Given the description of an element on the screen output the (x, y) to click on. 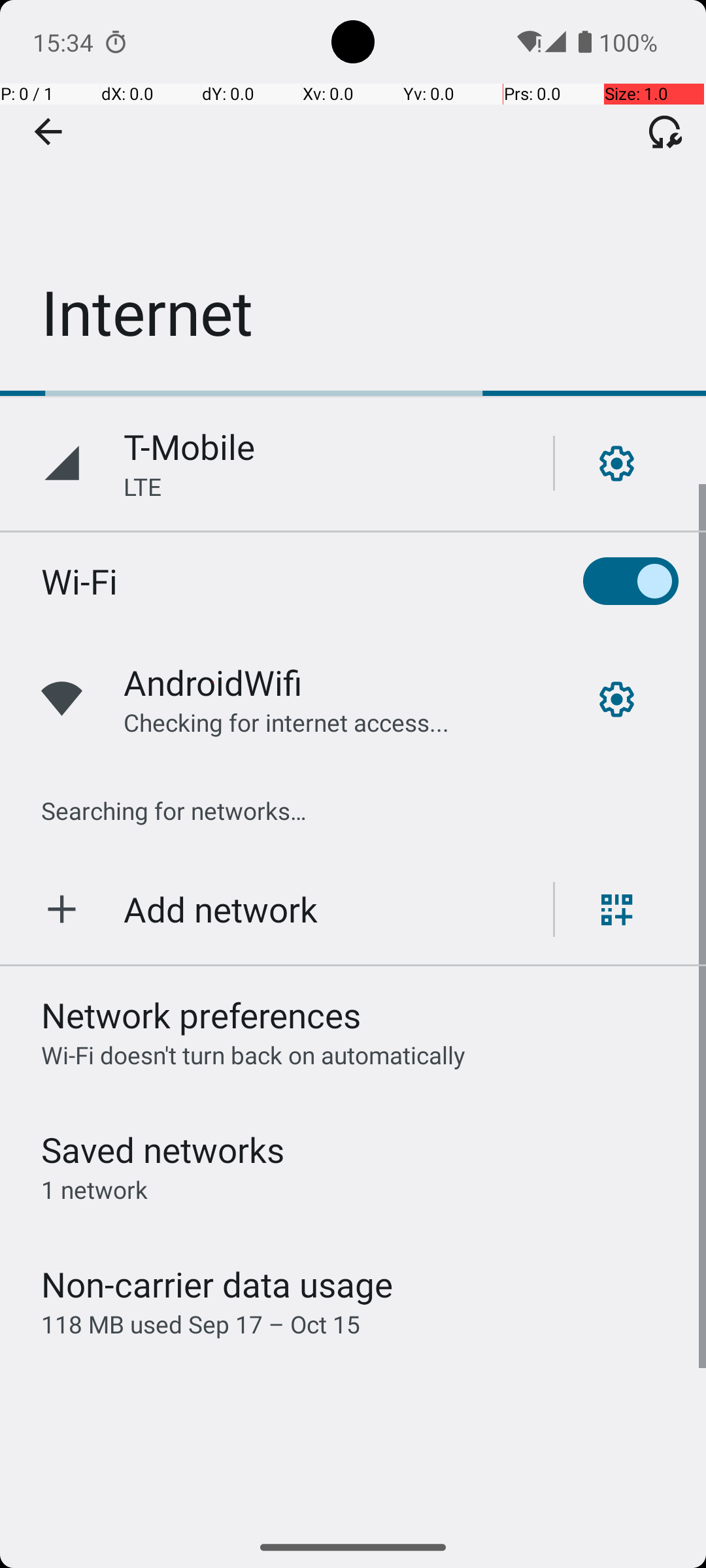
Fix connectivity Element type: android.widget.TextView (664, 131)
AndroidWifi,Checking for internet access...,Wifi signal full.,Open network Element type: android.widget.LinearLayout (353, 698)
LTE Element type: android.widget.TextView (142, 486)
Wi-Fi Element type: android.widget.TextView (79, 580)
AndroidWifi Element type: android.widget.TextView (212, 682)
Checking for internet access... Element type: android.widget.TextView (286, 721)
Searching for networks… Element type: android.widget.TextView (173, 810)
Add network Element type: android.widget.TextView (220, 908)
Scan QR code Element type: android.widget.ImageButton (616, 909)
Network preferences Element type: android.widget.TextView (201, 1014)
Wi‑Fi doesn't turn back on automatically Element type: android.widget.TextView (253, 1054)
Saved networks Element type: android.widget.TextView (163, 1149)
1 network Element type: android.widget.TextView (94, 1189)
Non-carrier data usage Element type: android.widget.TextView (216, 1283)
118 MB used Sep 17 – Oct 15 Element type: android.widget.TextView (200, 1323)
